Given the description of an element on the screen output the (x, y) to click on. 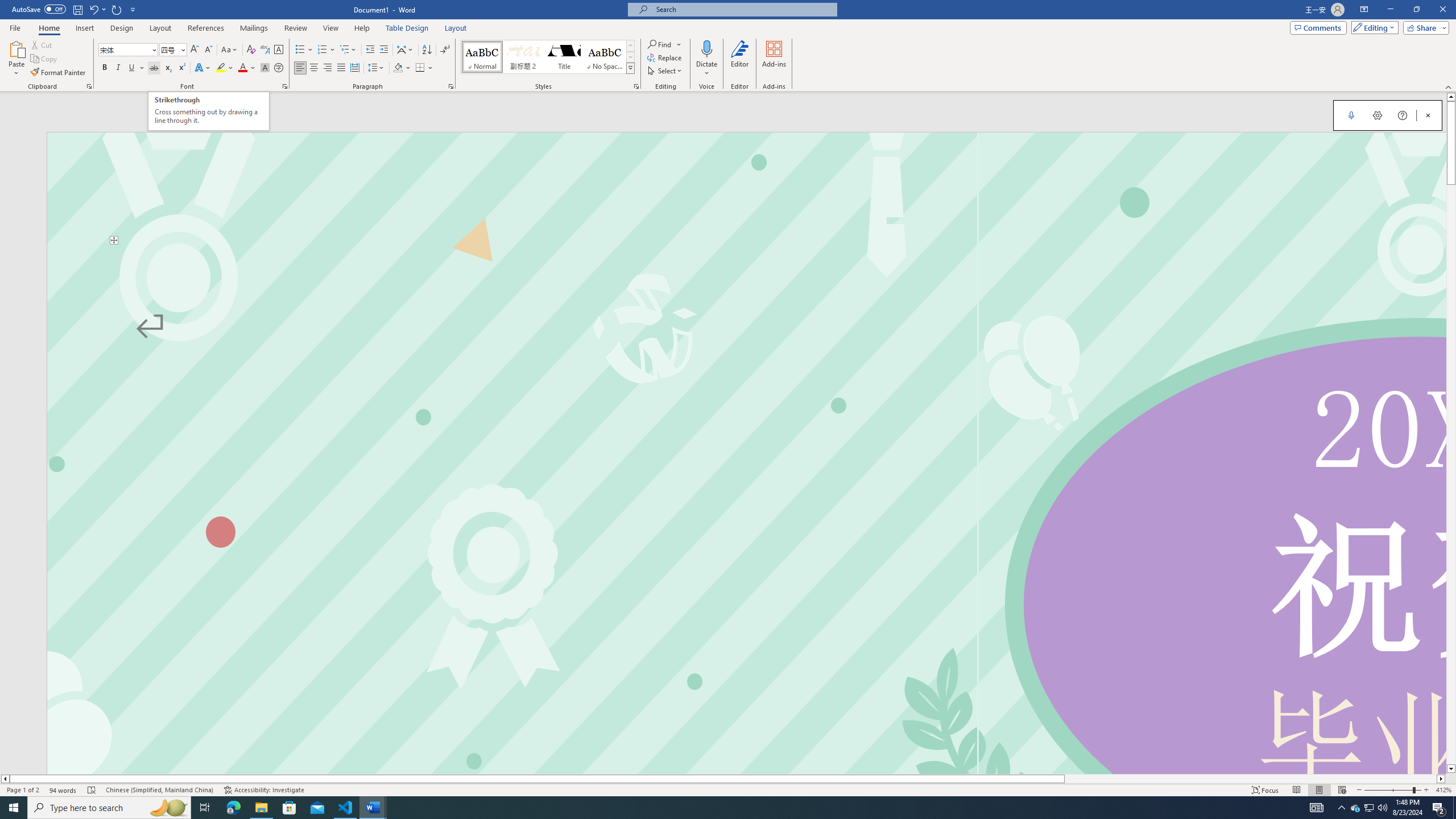
First Page Header -Section 1- (745, 187)
Column right (1441, 778)
